Given the description of an element on the screen output the (x, y) to click on. 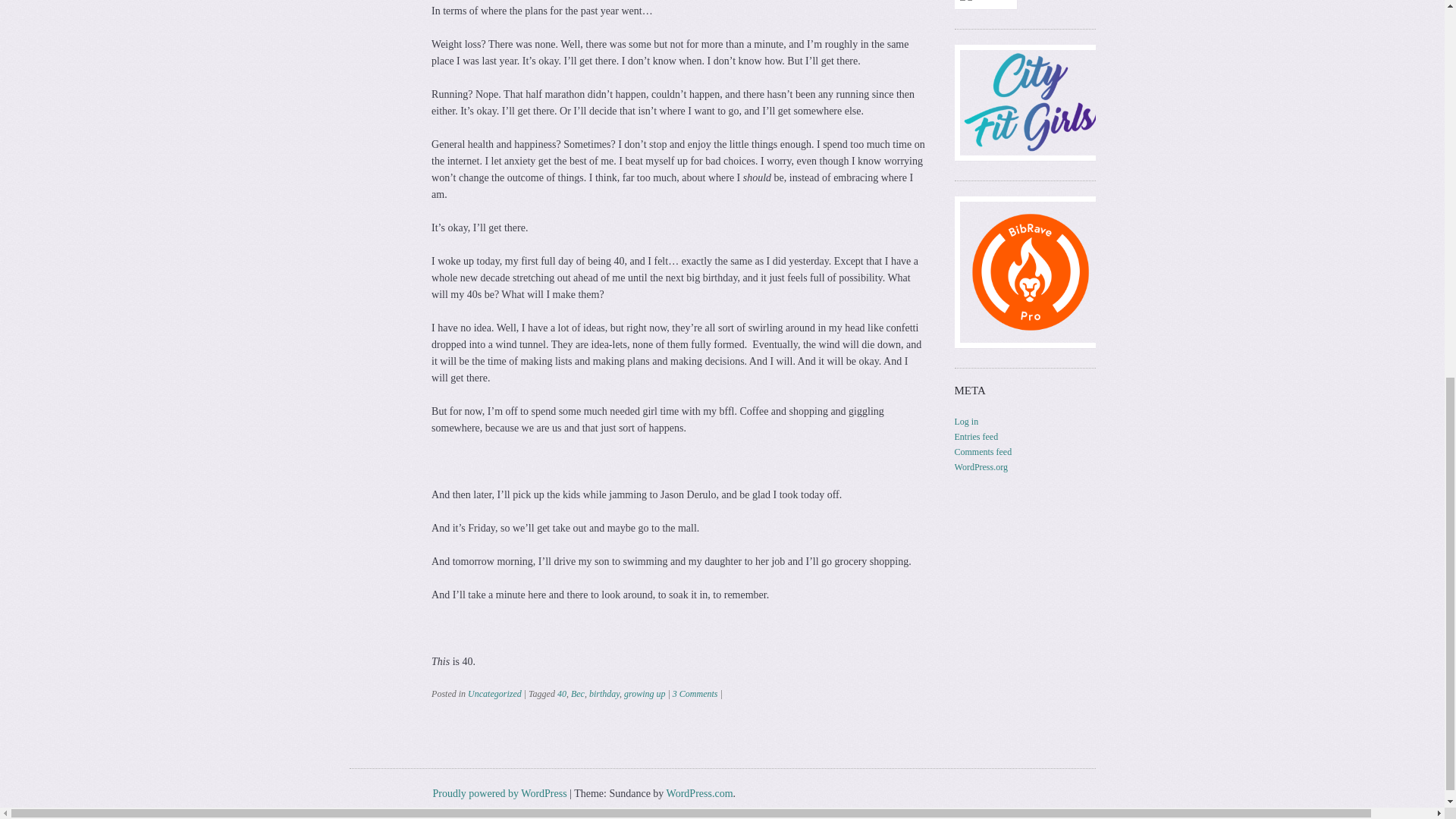
growing up (644, 693)
scootadoot (985, 0)
Uncategorized (494, 693)
3 Comments (694, 693)
birthday (604, 693)
A Semantic Personal Publishing Platform (499, 793)
Bec (577, 693)
